Given the description of an element on the screen output the (x, y) to click on. 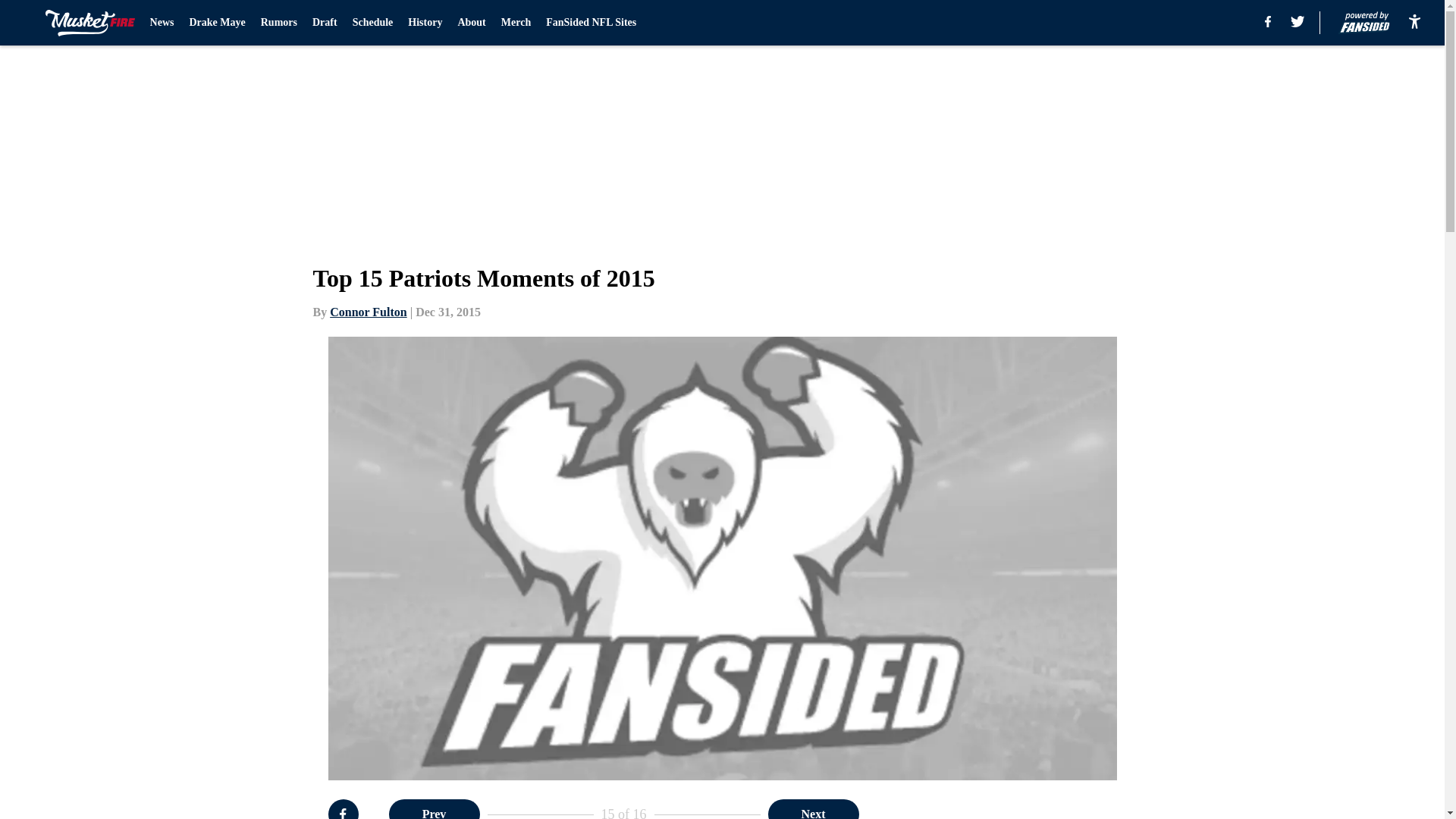
Next (813, 809)
Connor Fulton (368, 311)
FanSided NFL Sites (591, 22)
About (470, 22)
Schedule (372, 22)
History (424, 22)
Drake Maye (216, 22)
Draft (325, 22)
News (161, 22)
Merch (515, 22)
